Given the description of an element on the screen output the (x, y) to click on. 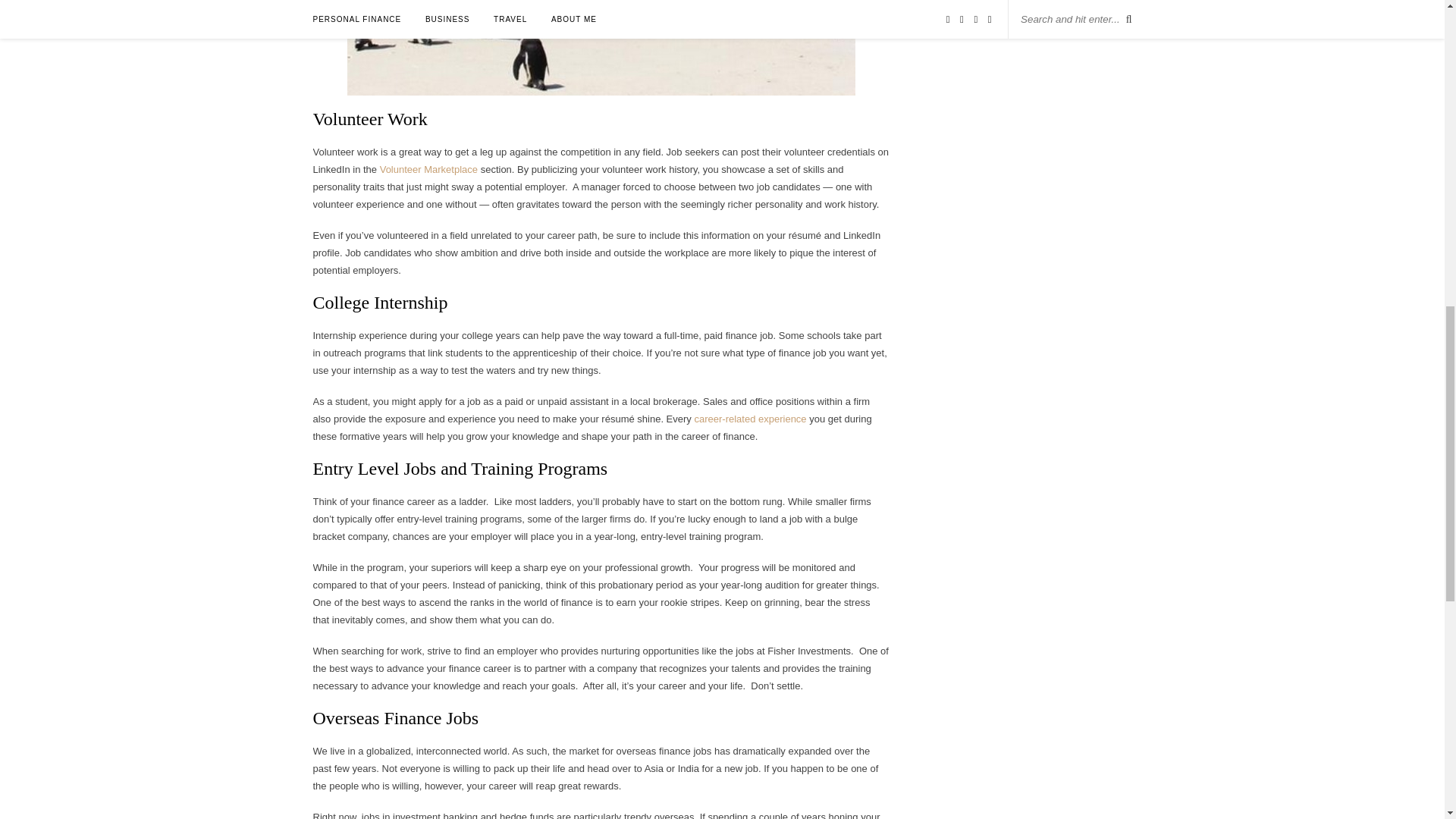
Volunteer Marketplace (428, 169)
career-related experience (750, 419)
